Given the description of an element on the screen output the (x, y) to click on. 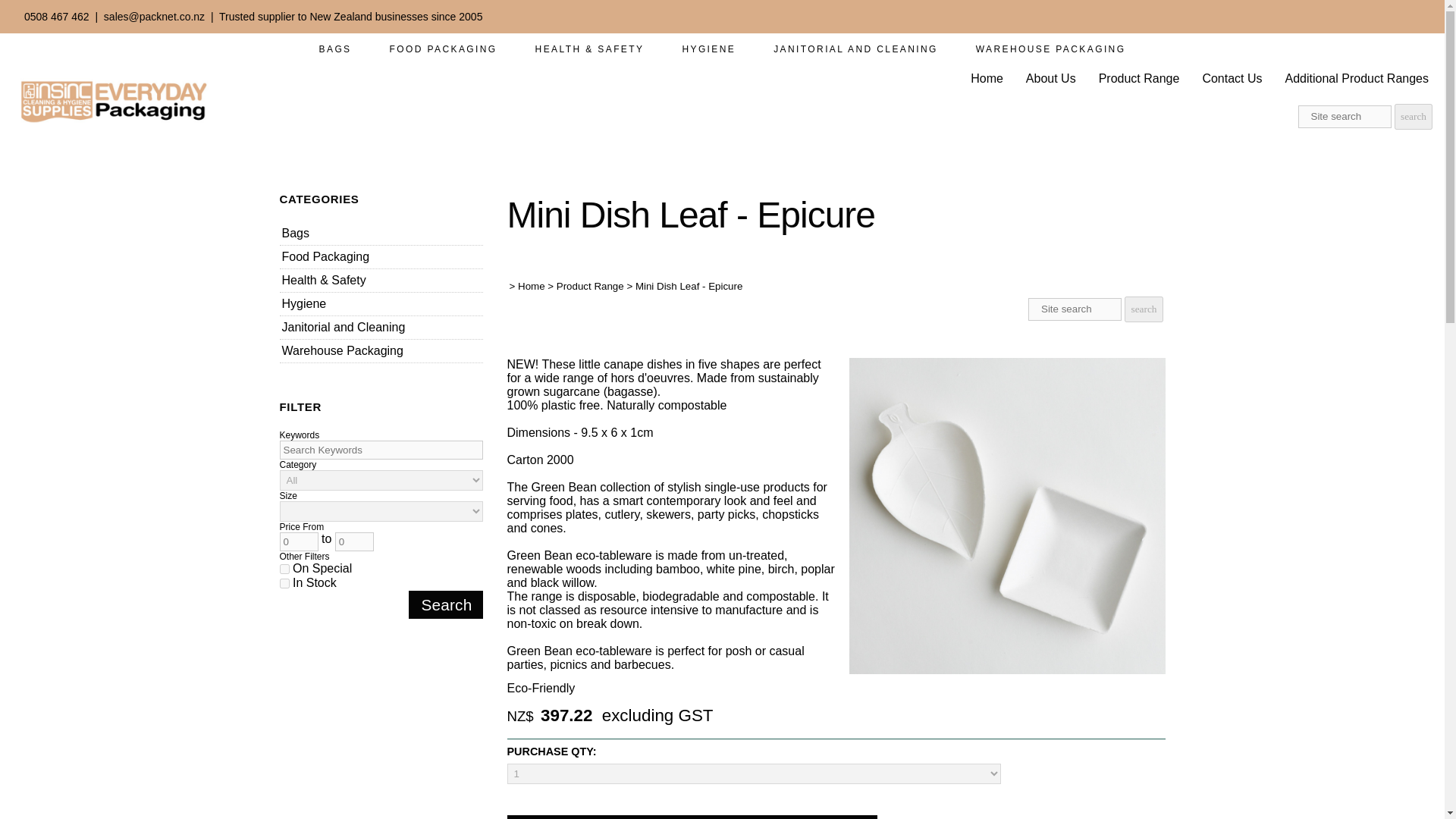
Mini Dish Leaf - Epicure (1007, 669)
Search (445, 604)
1 (283, 583)
BAGS (335, 49)
1 (283, 569)
0508 467 462 (56, 16)
